Given the description of an element on the screen output the (x, y) to click on. 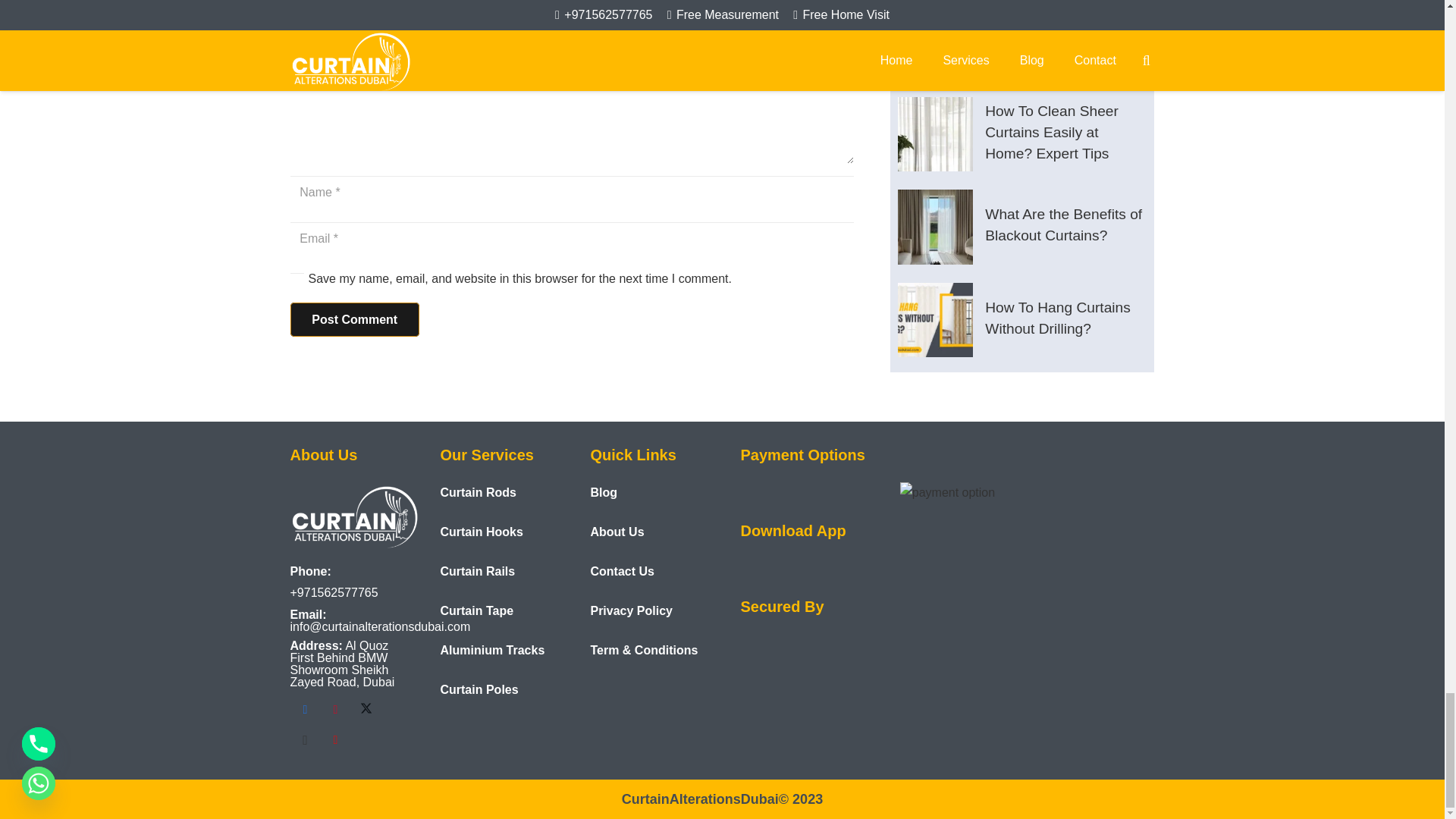
1 (295, 279)
Facebook (304, 709)
Pinterest (335, 709)
